Given the description of an element on the screen output the (x, y) to click on. 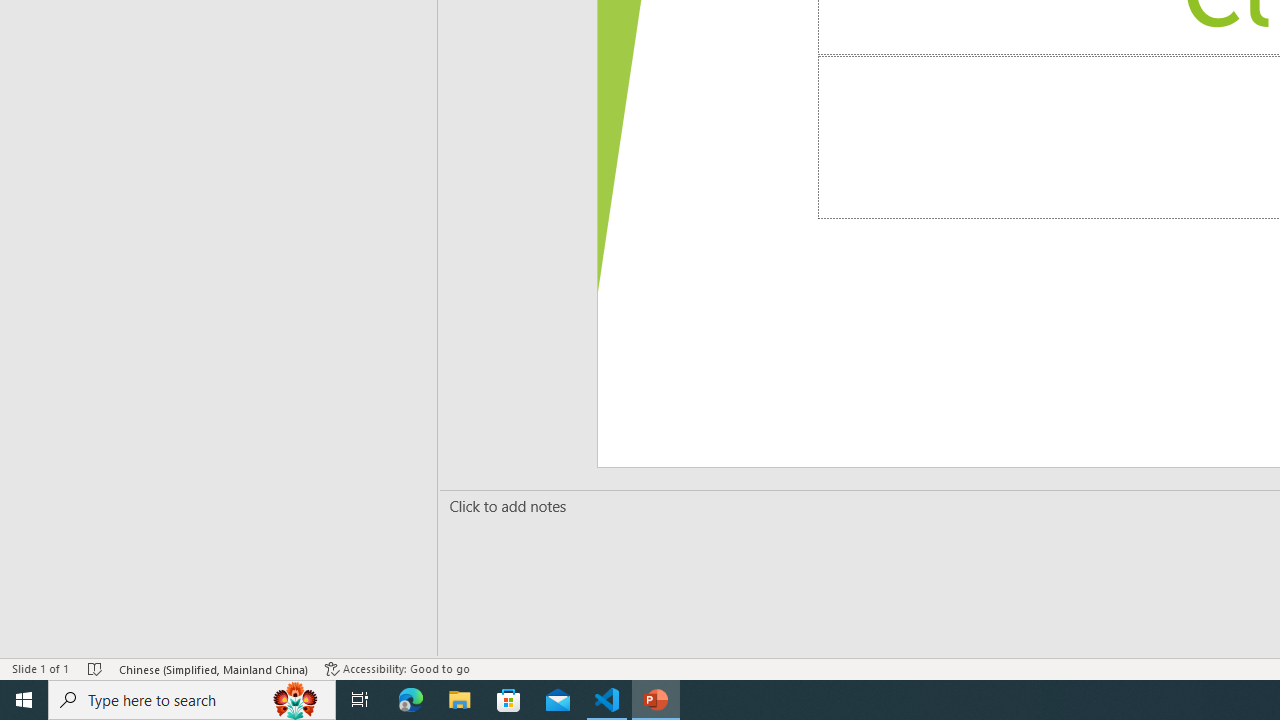
Accessibility Checker Accessibility: Good to go (397, 668)
